Given the description of an element on the screen output the (x, y) to click on. 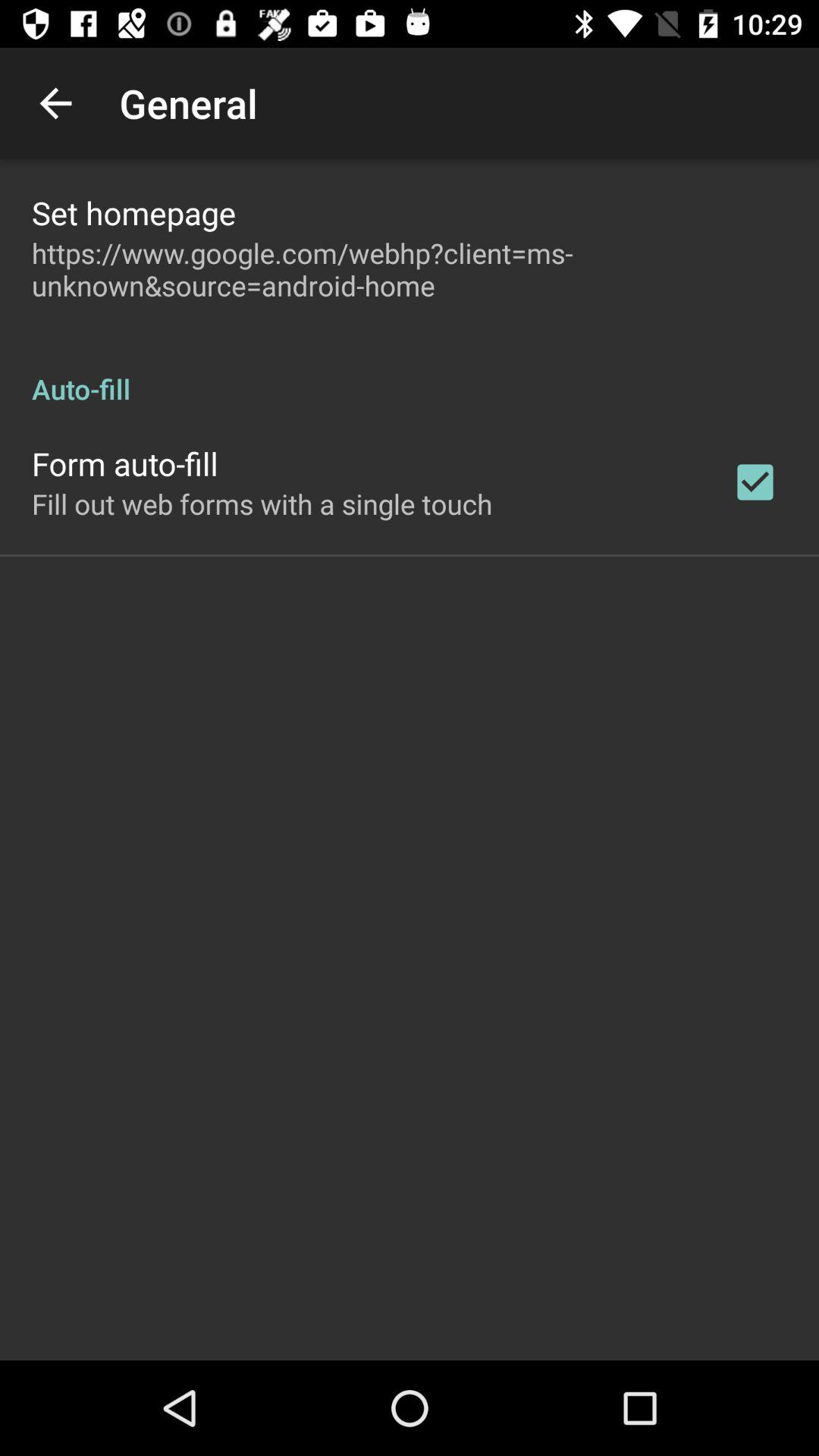
turn off icon above the auto-fill item (409, 269)
